Given the description of an element on the screen output the (x, y) to click on. 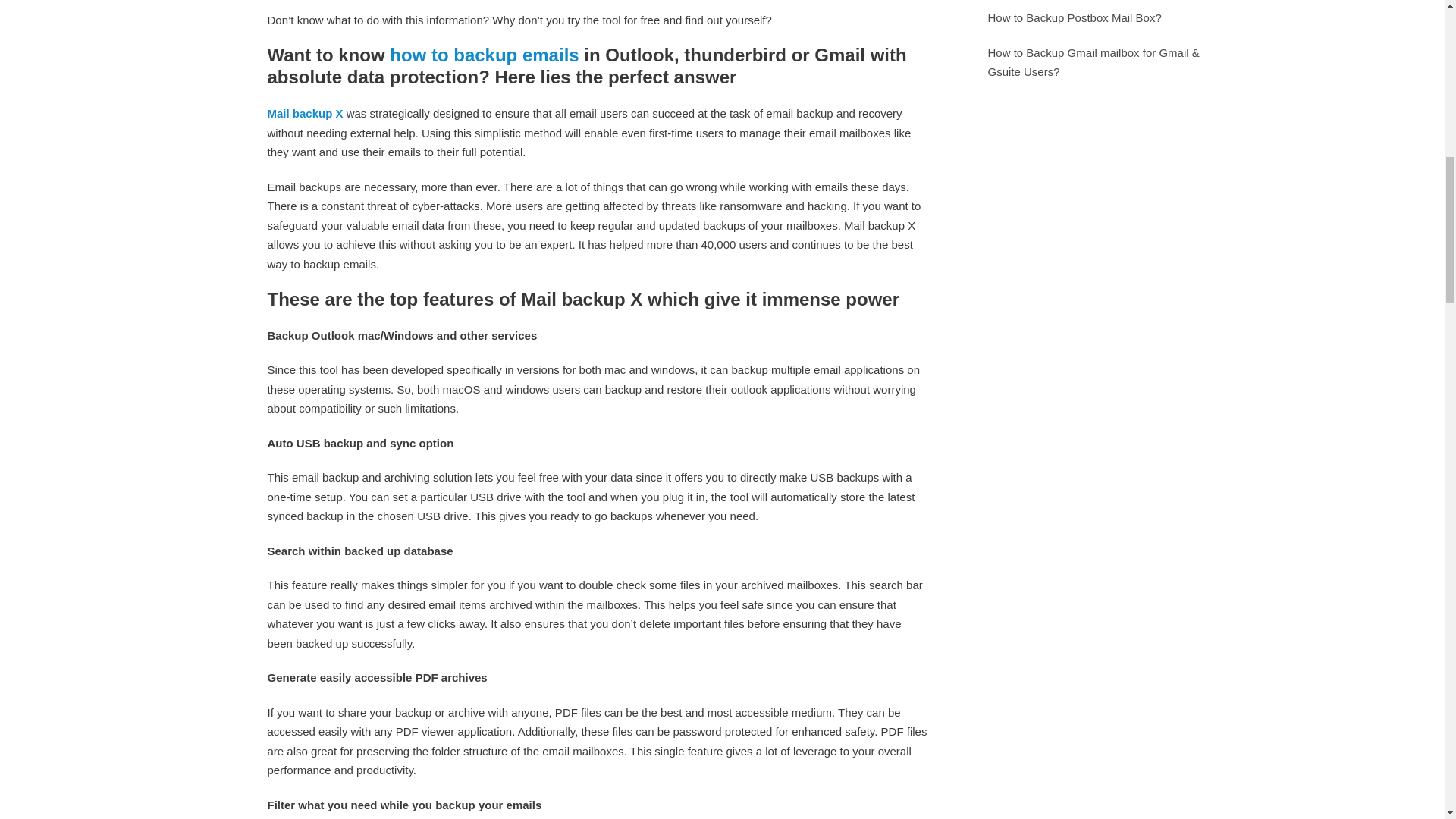
Mail backup X (304, 113)
how to backup emails (484, 55)
